Given the description of an element on the screen output the (x, y) to click on. 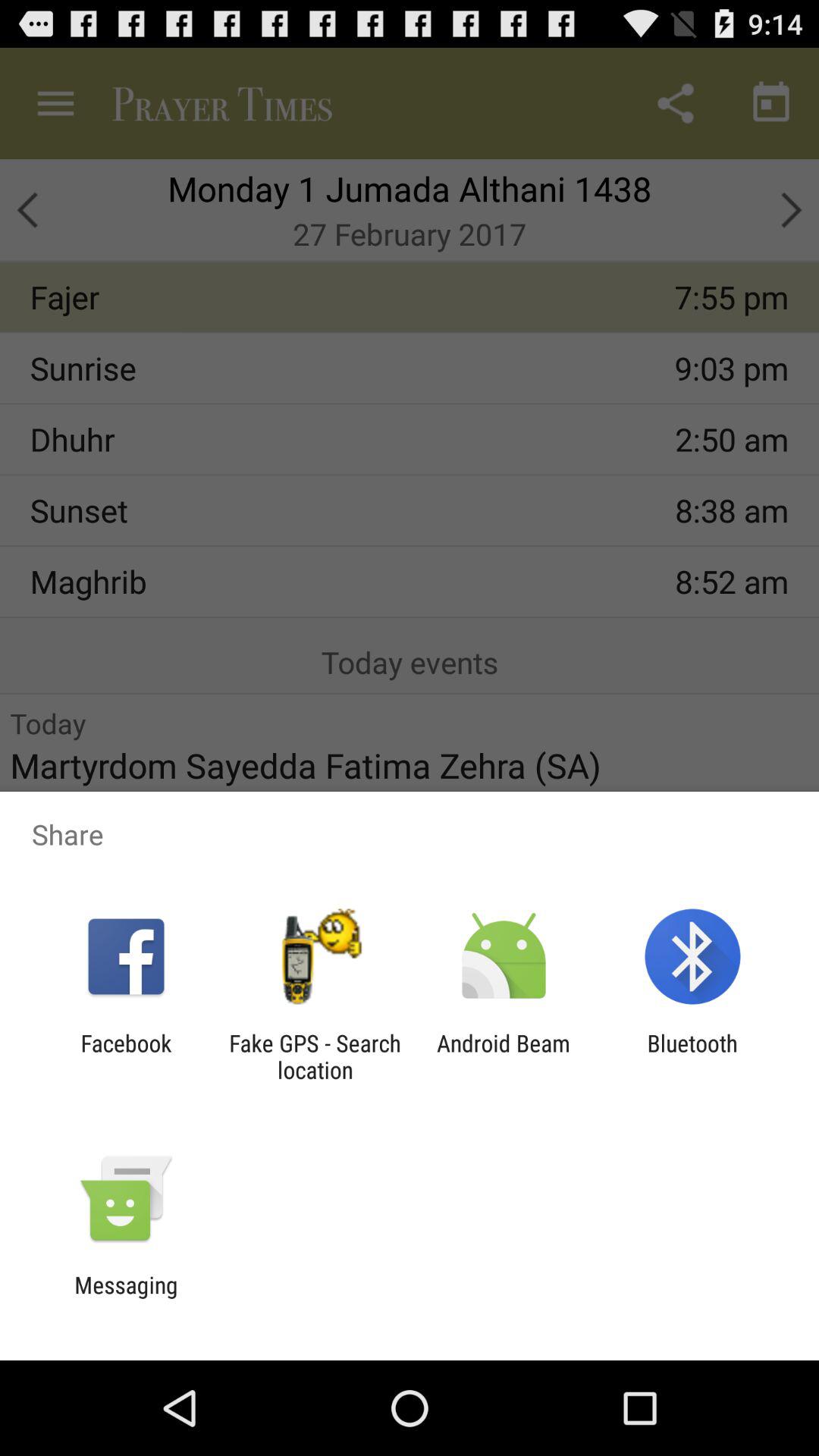
turn off fake gps search (314, 1056)
